Given the description of an element on the screen output the (x, y) to click on. 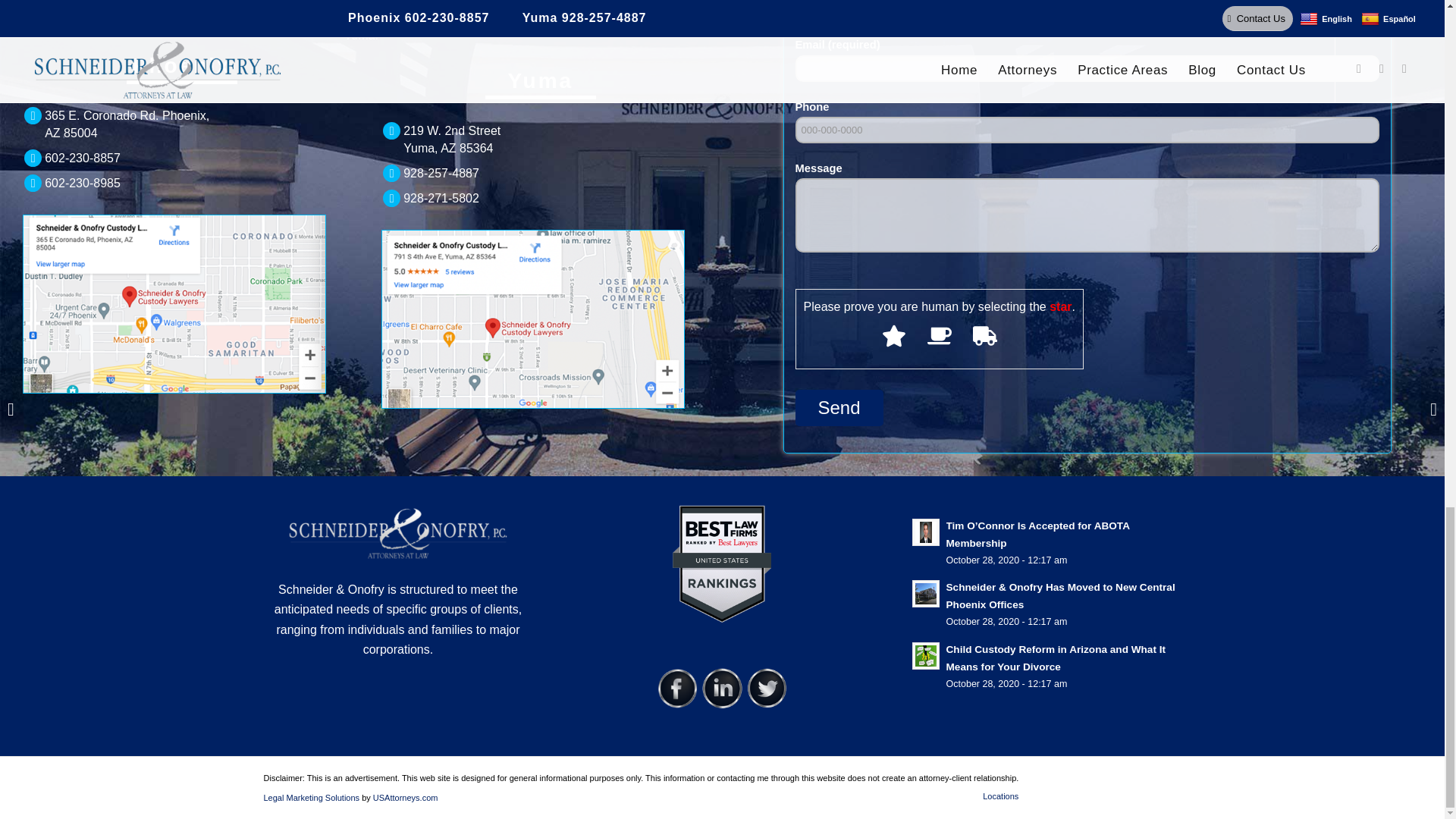
Best Law Firms - Standard Badge (721, 563)
Send (838, 407)
